Given the description of an element on the screen output the (x, y) to click on. 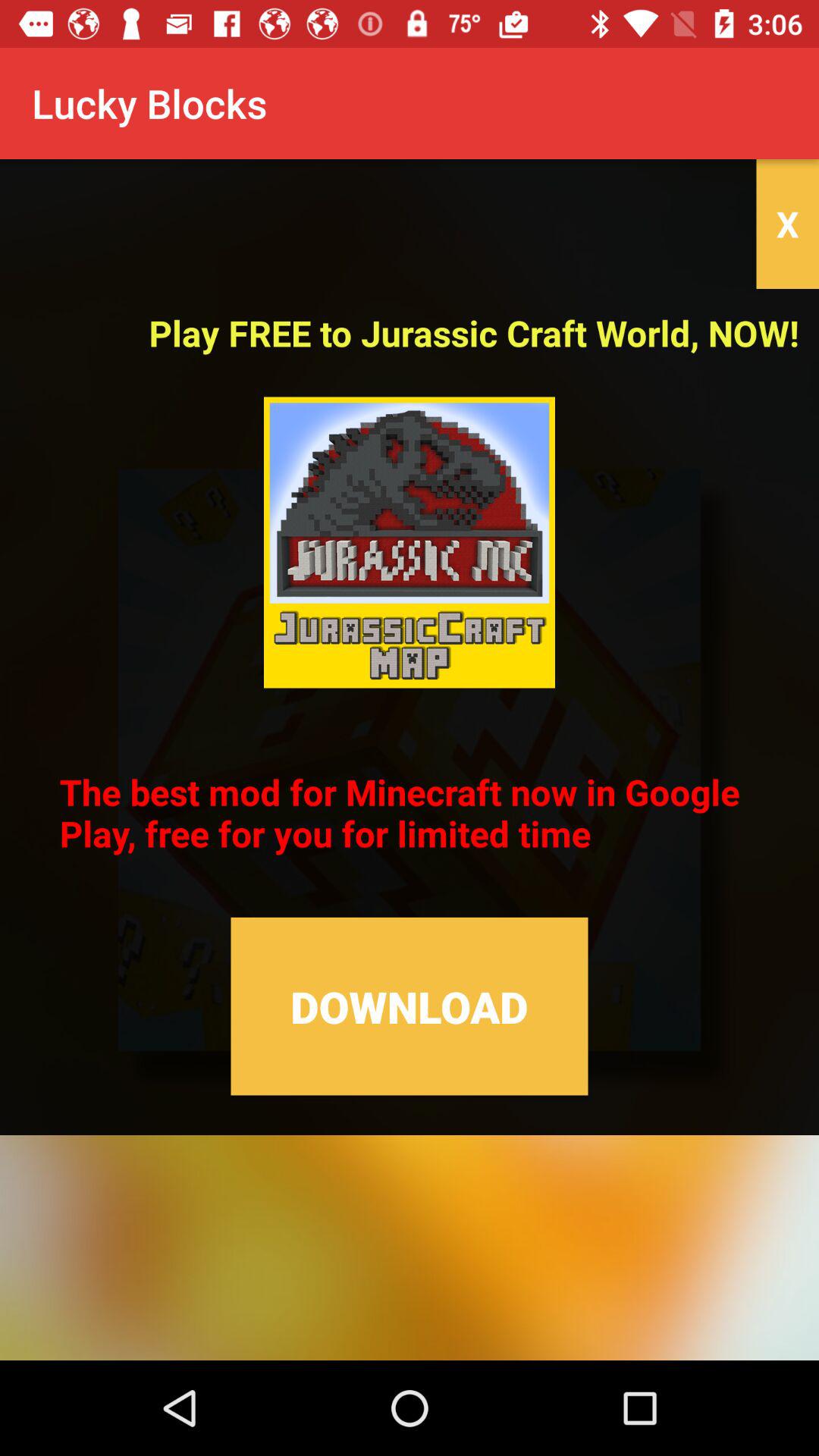
click the x item (787, 223)
